Given the description of an element on the screen output the (x, y) to click on. 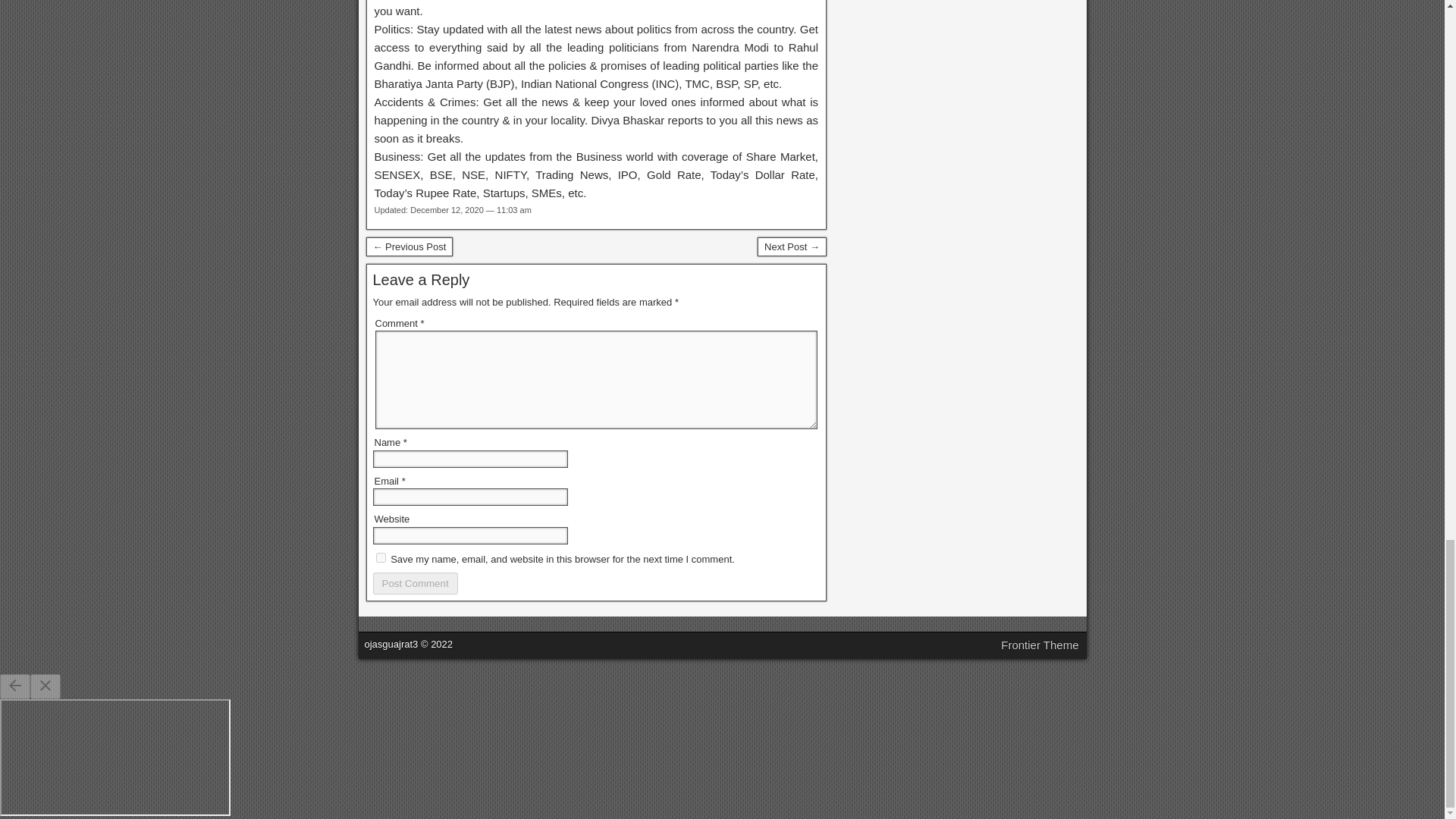
yes (380, 557)
Pandit Din Dayal Upadhyay Awas Yojana 2020 : (408, 247)
Ambedkar Awas Yojana Online Application Form-2020 (792, 247)
Post Comment (415, 583)
